Given the description of an element on the screen output the (x, y) to click on. 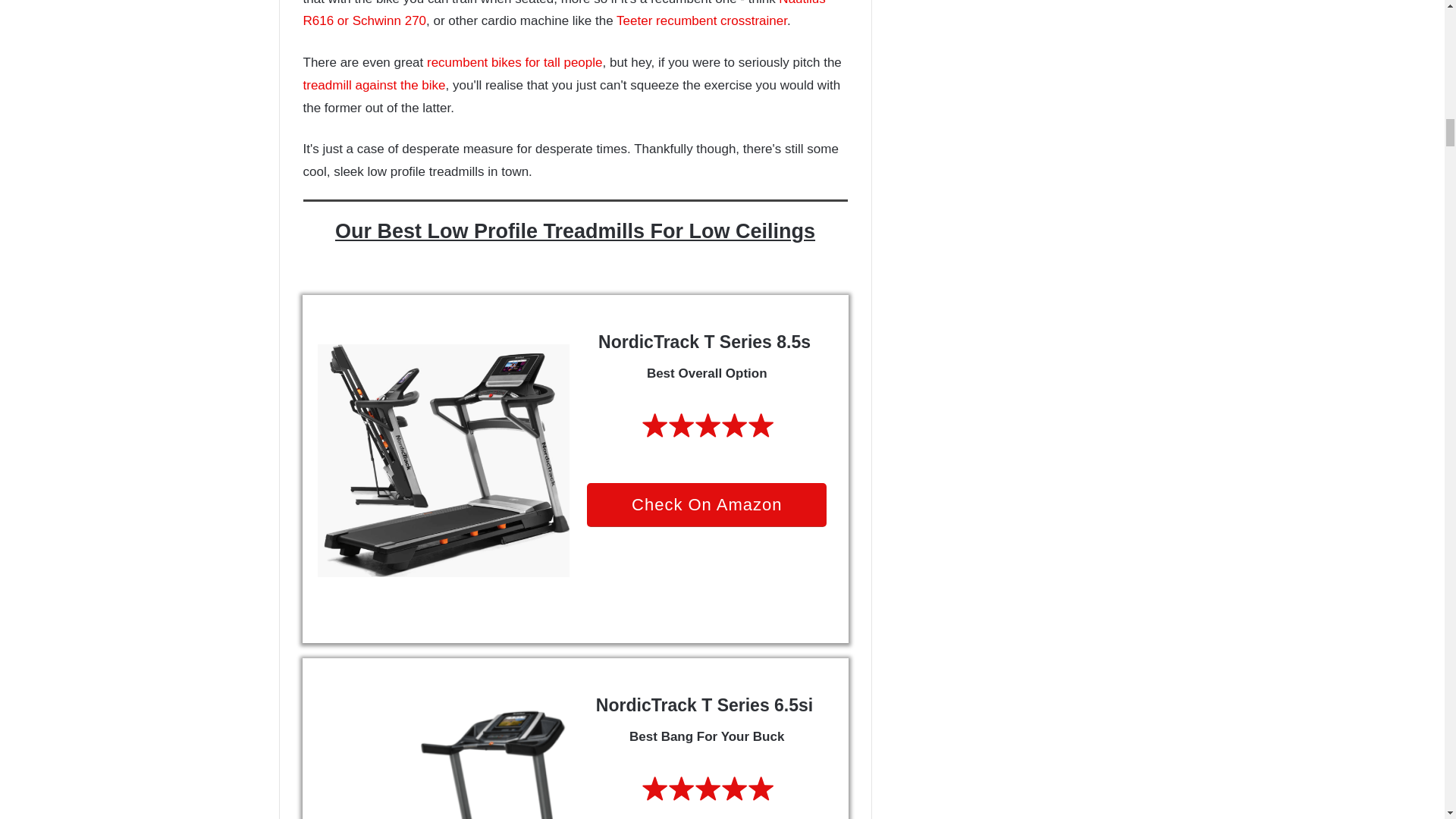
Nautilus R616 or Schwinn 270 (563, 14)
low profile treadmill (443, 459)
treadmill against the bike (373, 84)
Check On Amazon (706, 505)
Teeter recumbent crosstrainer (701, 20)
recumbent bikes for tall people (514, 62)
best value low profile treadmill (443, 762)
